Given the description of an element on the screen output the (x, y) to click on. 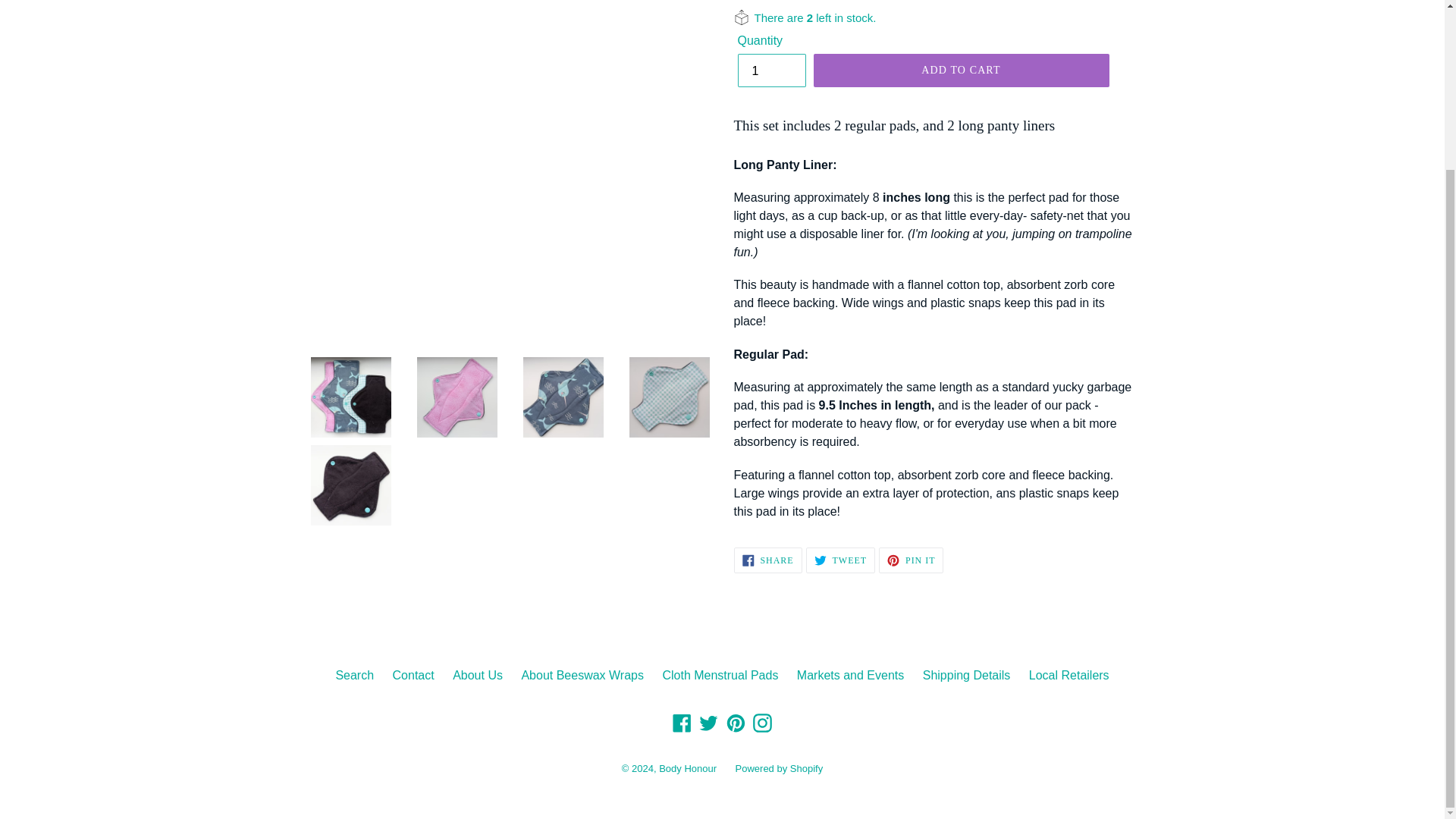
1 (770, 70)
